Given the description of an element on the screen output the (x, y) to click on. 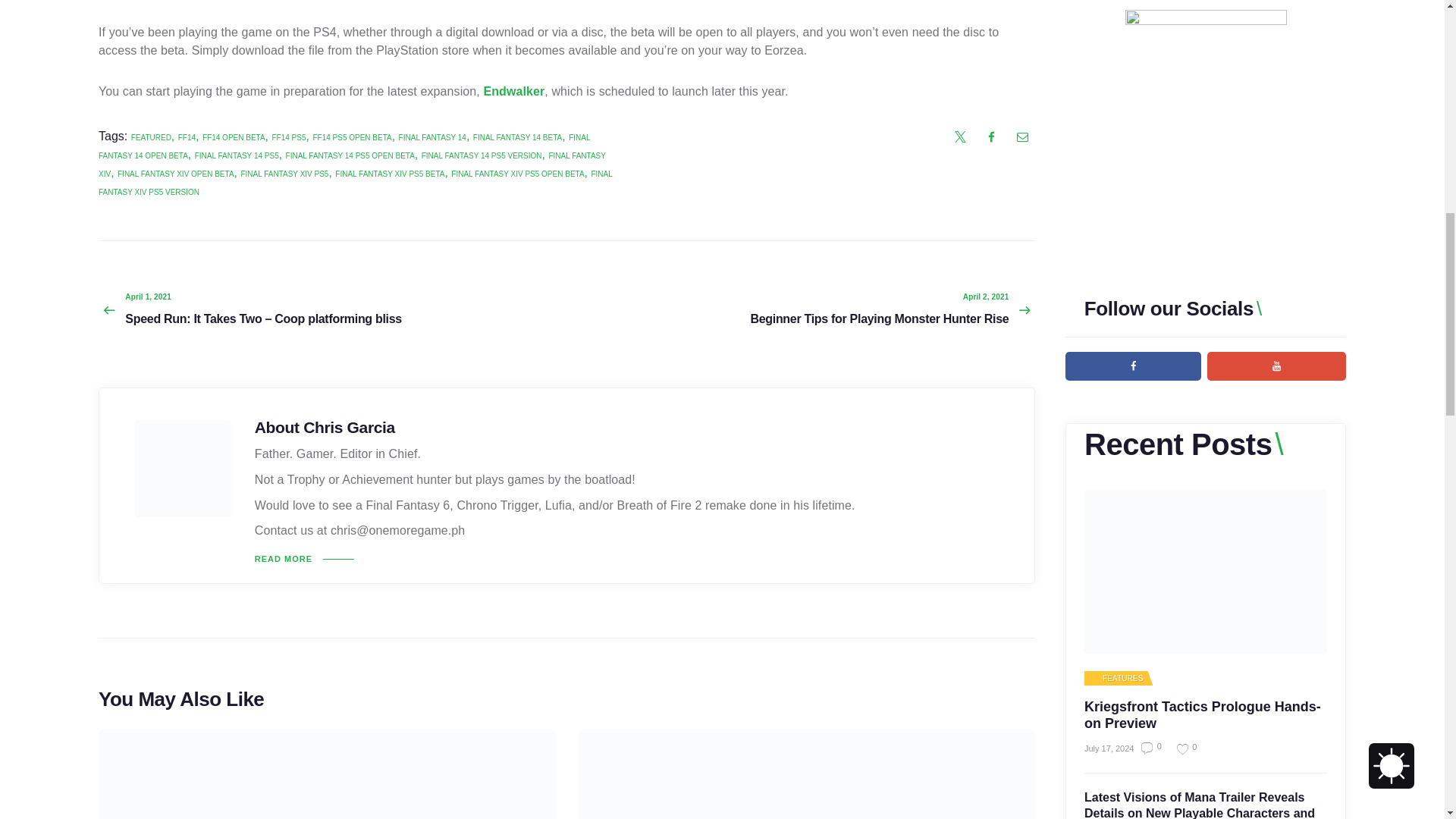
Endwalker (513, 91)
FF14 PS5 (287, 137)
FF14 (186, 137)
FF14 OPEN BETA (233, 137)
FEATURED (151, 137)
